Given the description of an element on the screen output the (x, y) to click on. 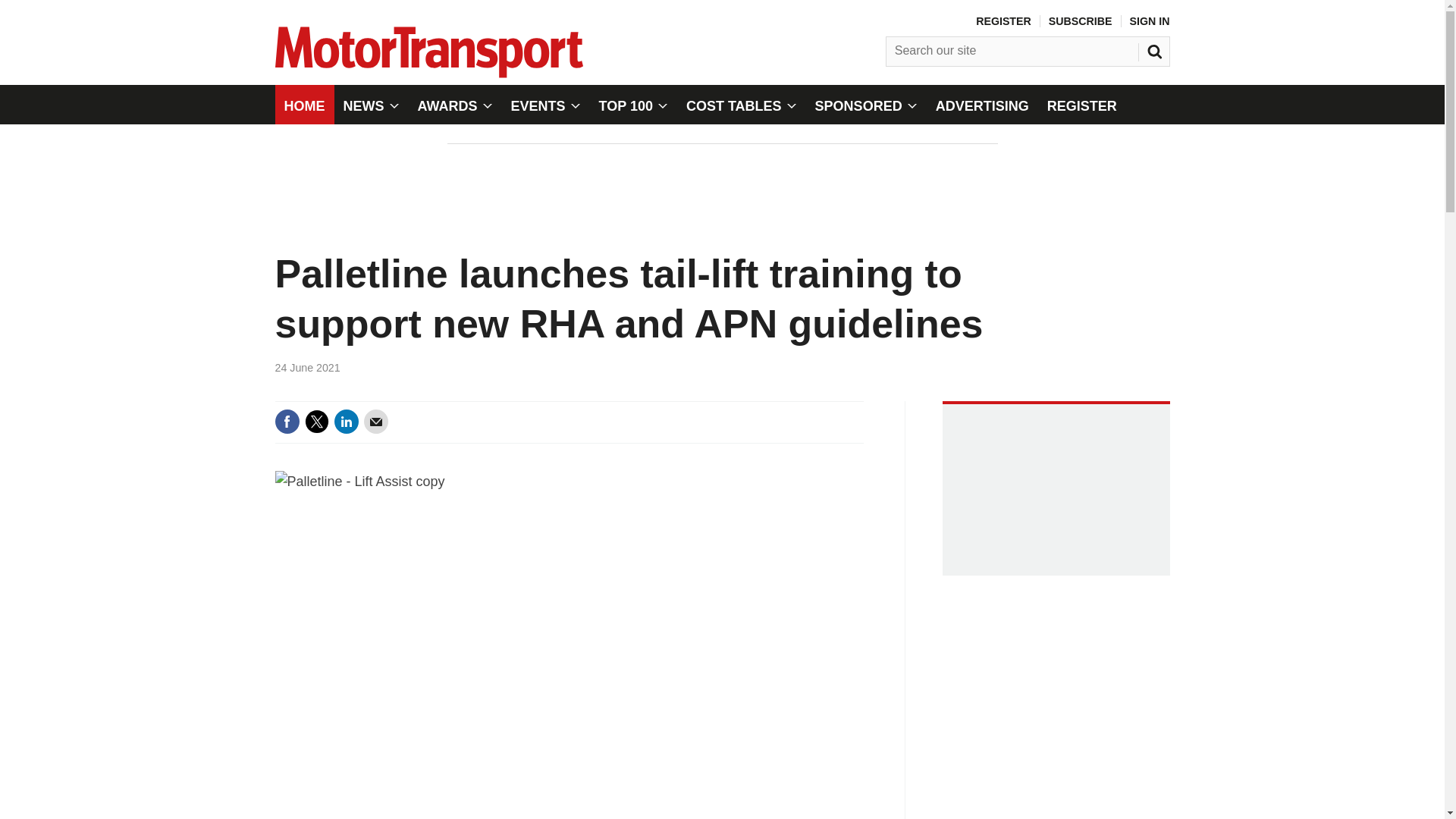
REGISTER (1002, 21)
Site name (428, 73)
Share this on Linked in (345, 421)
Email this article (376, 421)
Share this on Facebook (286, 421)
SEARCH (1156, 48)
Share this on Twitter (316, 421)
SIGN IN (1149, 21)
SUBSCRIBE (1080, 21)
